Given the description of an element on the screen output the (x, y) to click on. 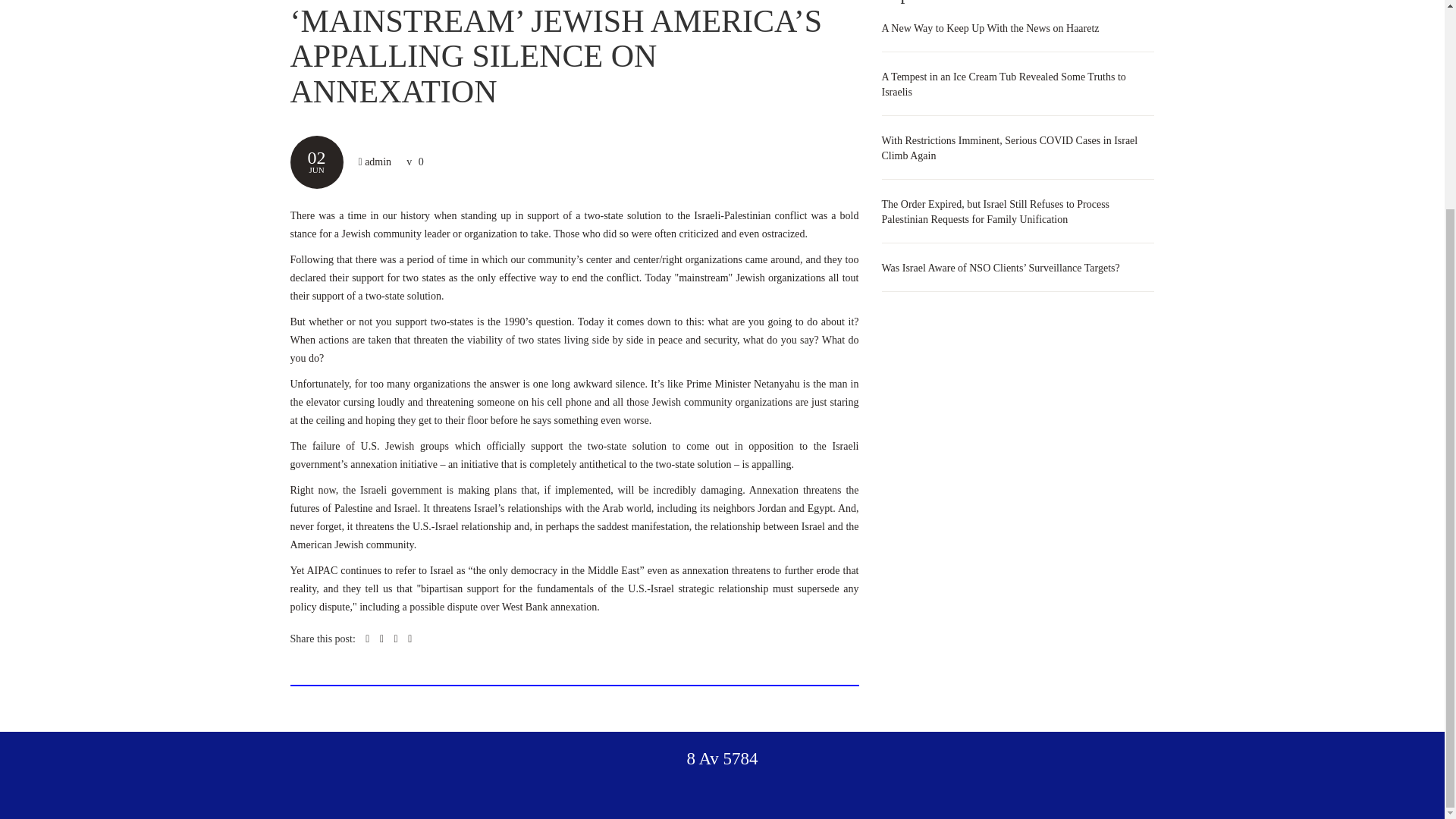
A New Way to Keep Up With the News on Haaretz (989, 28)
admin (378, 161)
